Given the description of an element on the screen output the (x, y) to click on. 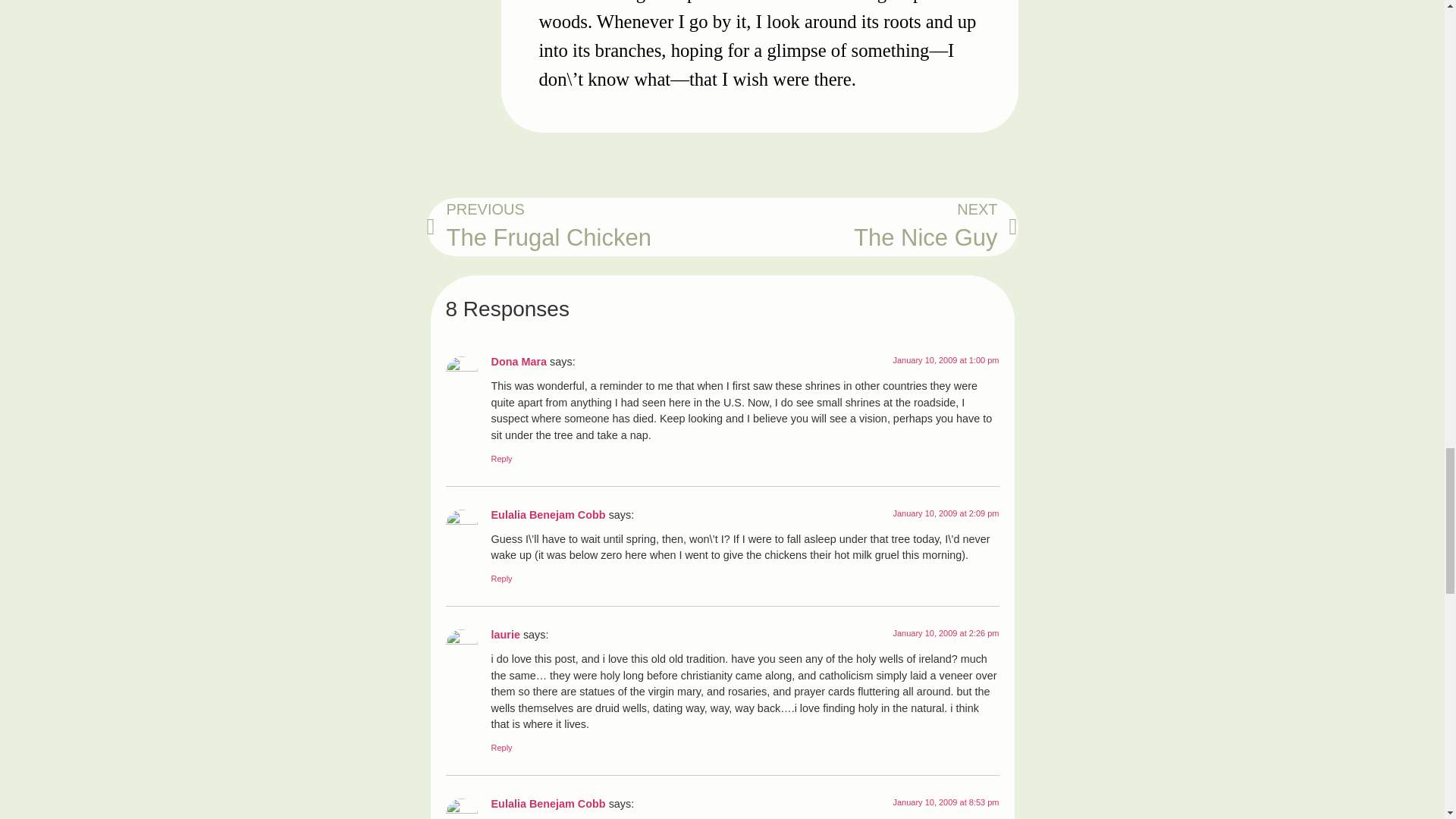
January 10, 2009 at 8:53 pm (945, 801)
Reply (502, 458)
Dona Mara (519, 361)
Eulalia Benejam Cobb (548, 803)
Eulalia Benejam Cobb (548, 514)
Reply (502, 578)
January 10, 2009 at 2:26 pm (869, 227)
laurie (574, 227)
